Given the description of an element on the screen output the (x, y) to click on. 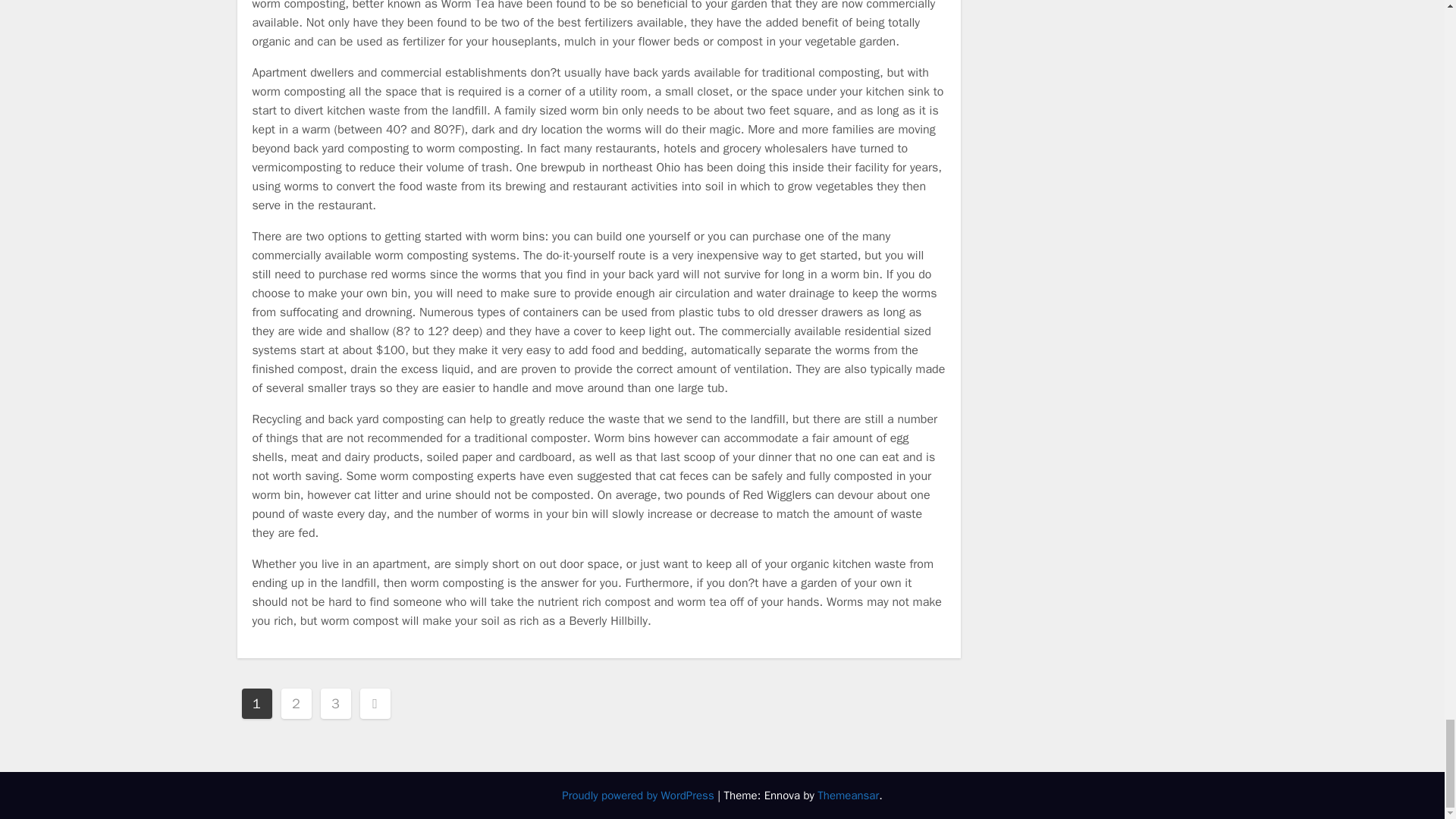
3 (335, 702)
2 (296, 702)
